Given the description of an element on the screen output the (x, y) to click on. 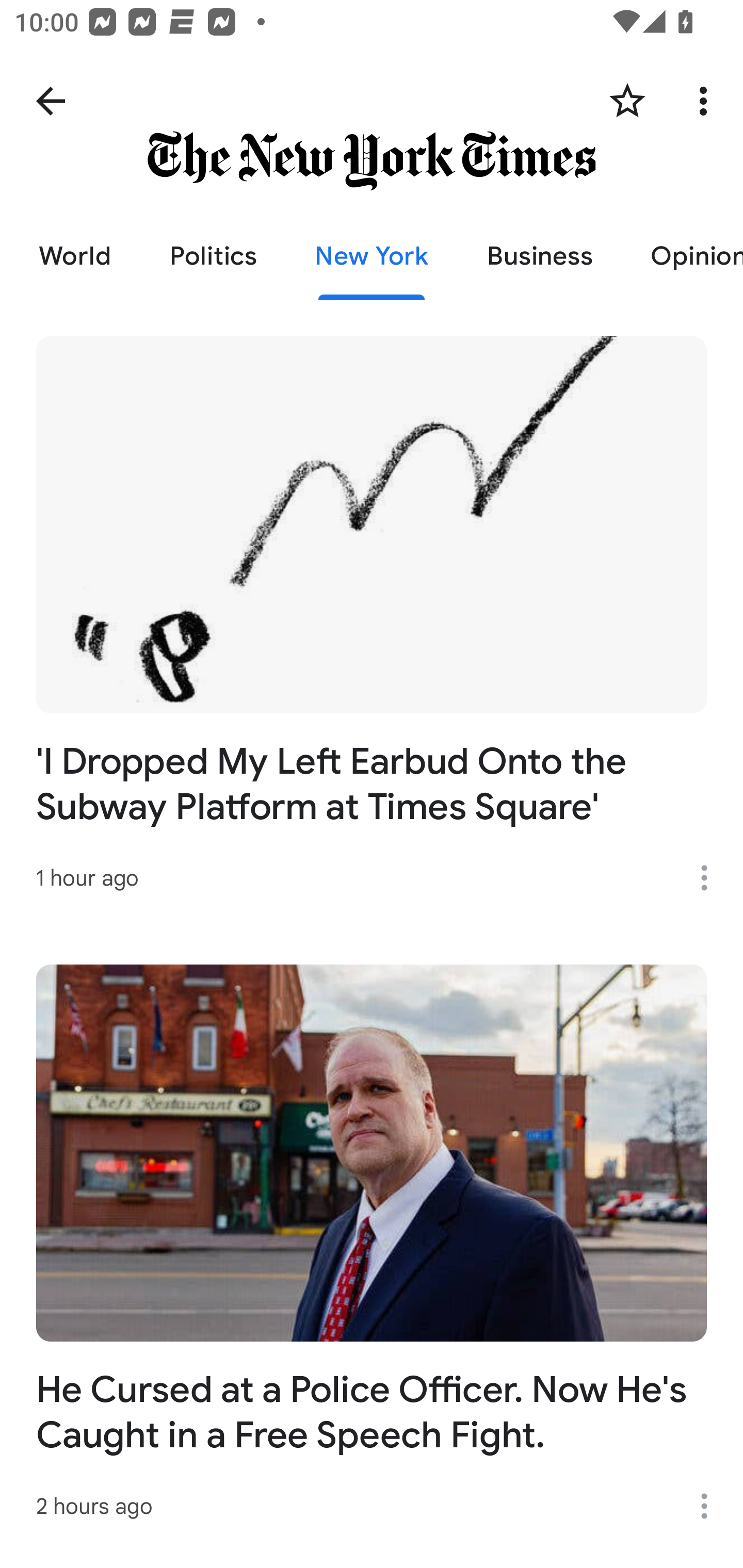
Navigate up (50, 101)
Follow (626, 101)
More options (706, 101)
World (74, 256)
Politics (213, 256)
Business (539, 256)
Opinion (682, 256)
More options (711, 878)
More options (711, 1505)
